Given the description of an element on the screen output the (x, y) to click on. 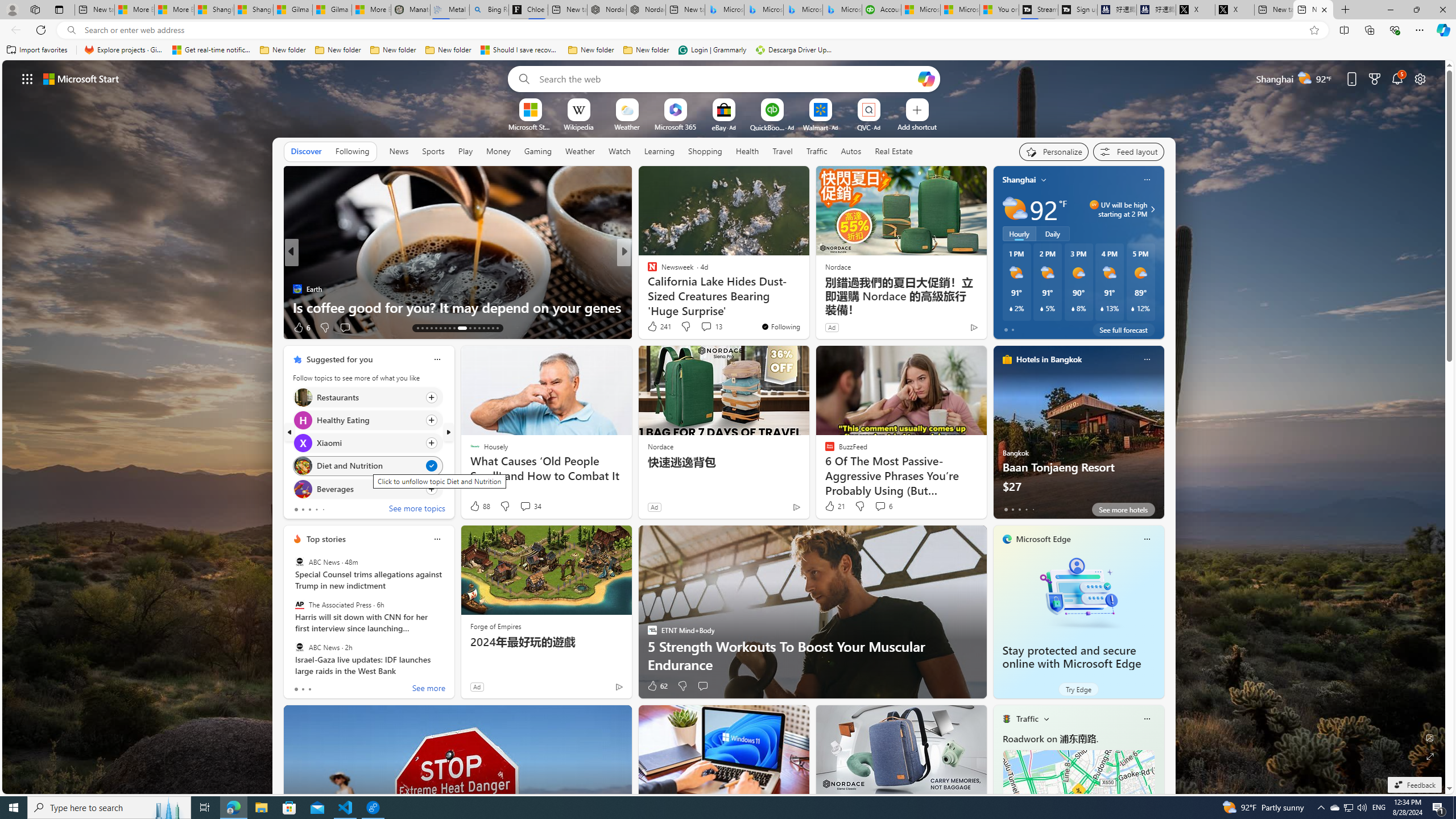
Refresh (40, 29)
Health (746, 151)
Traffic (816, 151)
View comments 49 Comment (6, 327)
5 Best Lifting Workouts for Men To Build a Chiseled Body (807, 298)
AutomationID: tab-19 (444, 328)
Streaming Coverage | T3 (1037, 9)
Back (13, 29)
View comments 405 Comment (6, 327)
Wikipedia (578, 126)
Address and search bar (692, 29)
Browser essentials (1394, 29)
Microsoft Start Sports (920, 9)
